Given the description of an element on the screen output the (x, y) to click on. 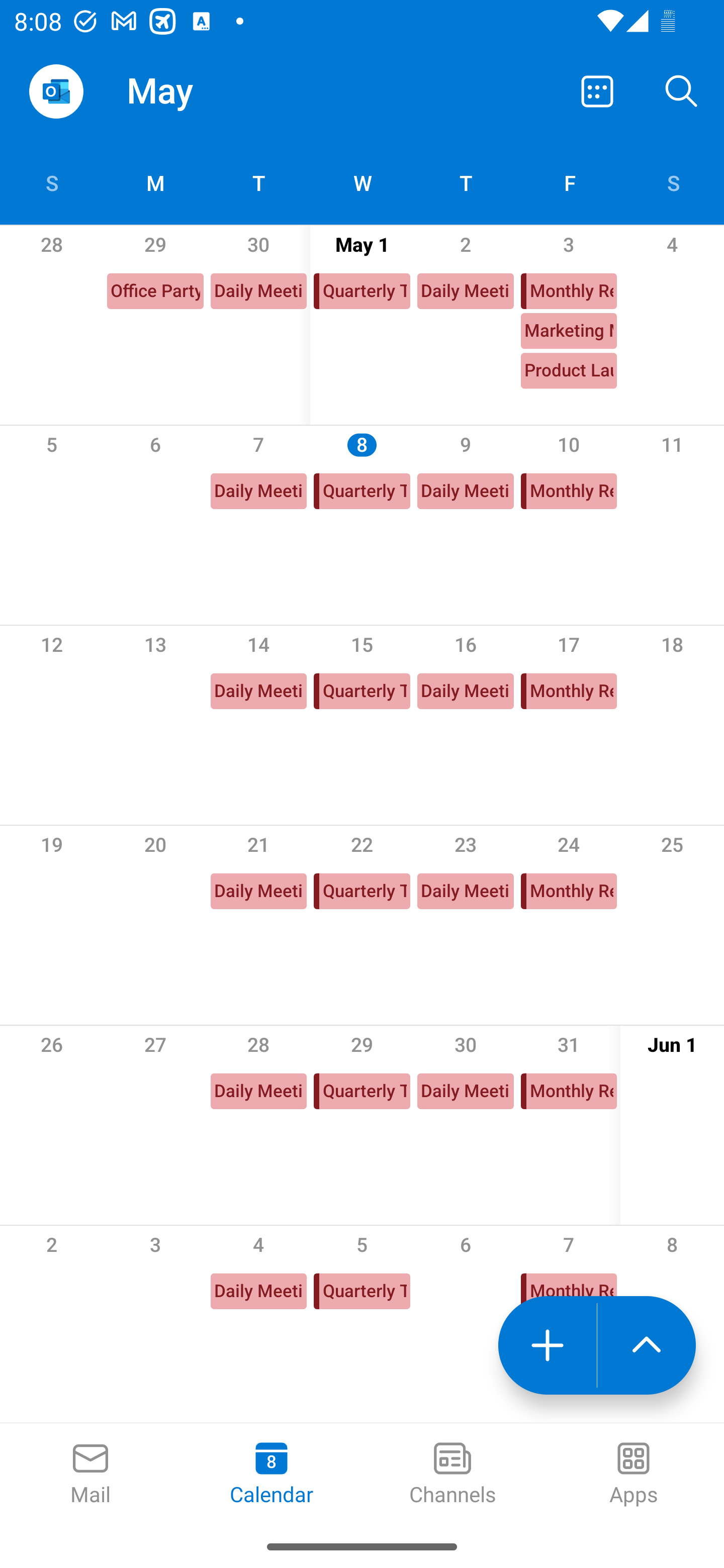
May May 2024, day picker (203, 90)
Switch away from Month view (597, 90)
Search, ,  (681, 90)
Open Navigation Drawer (55, 91)
